Given the description of an element on the screen output the (x, y) to click on. 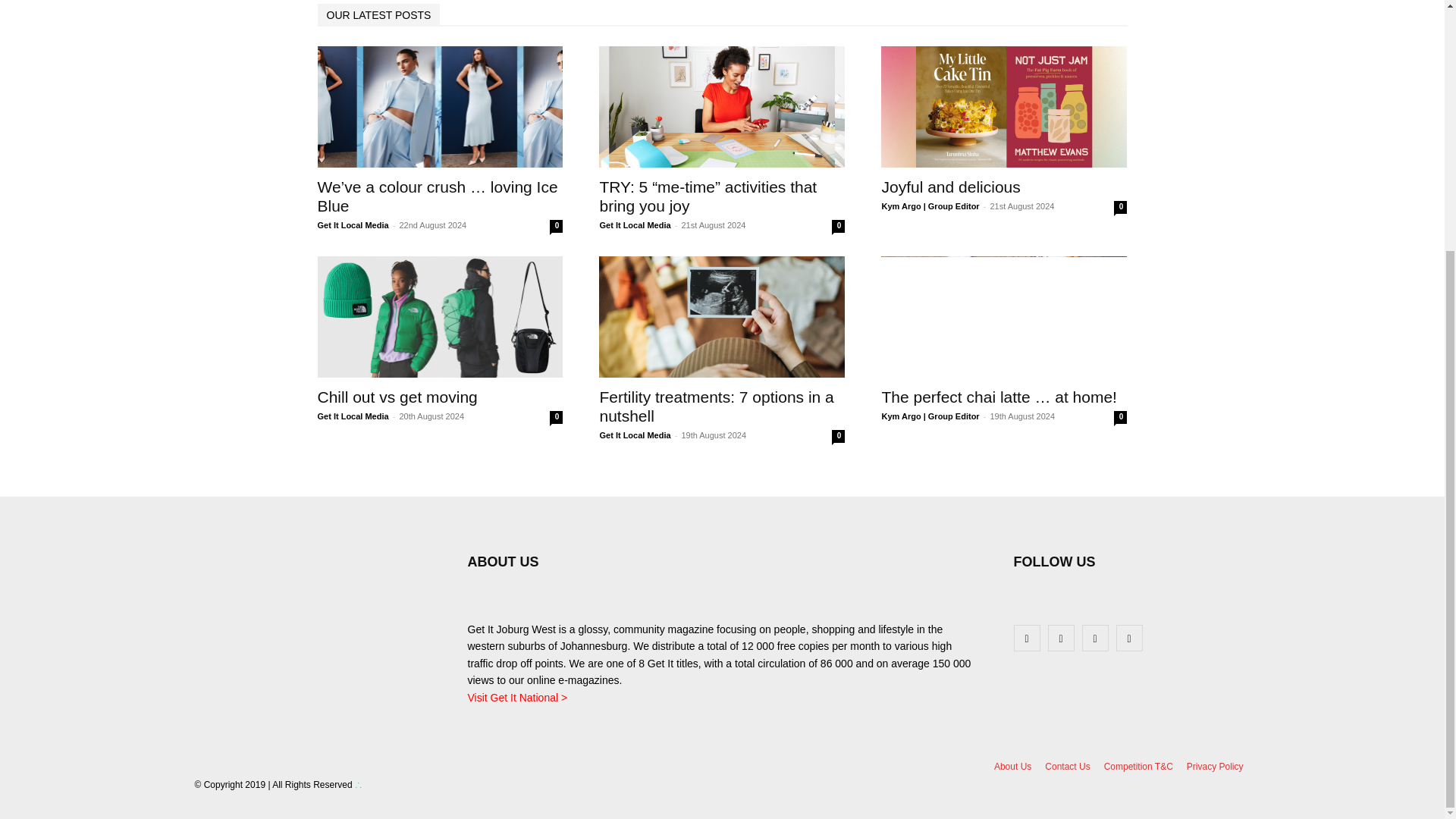
Chill out vs get moving (397, 396)
Fertility treatments: 7 options in a nutshell (715, 406)
Chill out vs get moving (439, 316)
Joyful and delicious (1003, 106)
Joyful and delicious (950, 186)
Fertility treatments: 7 options in a nutshell (721, 316)
